Given the description of an element on the screen output the (x, y) to click on. 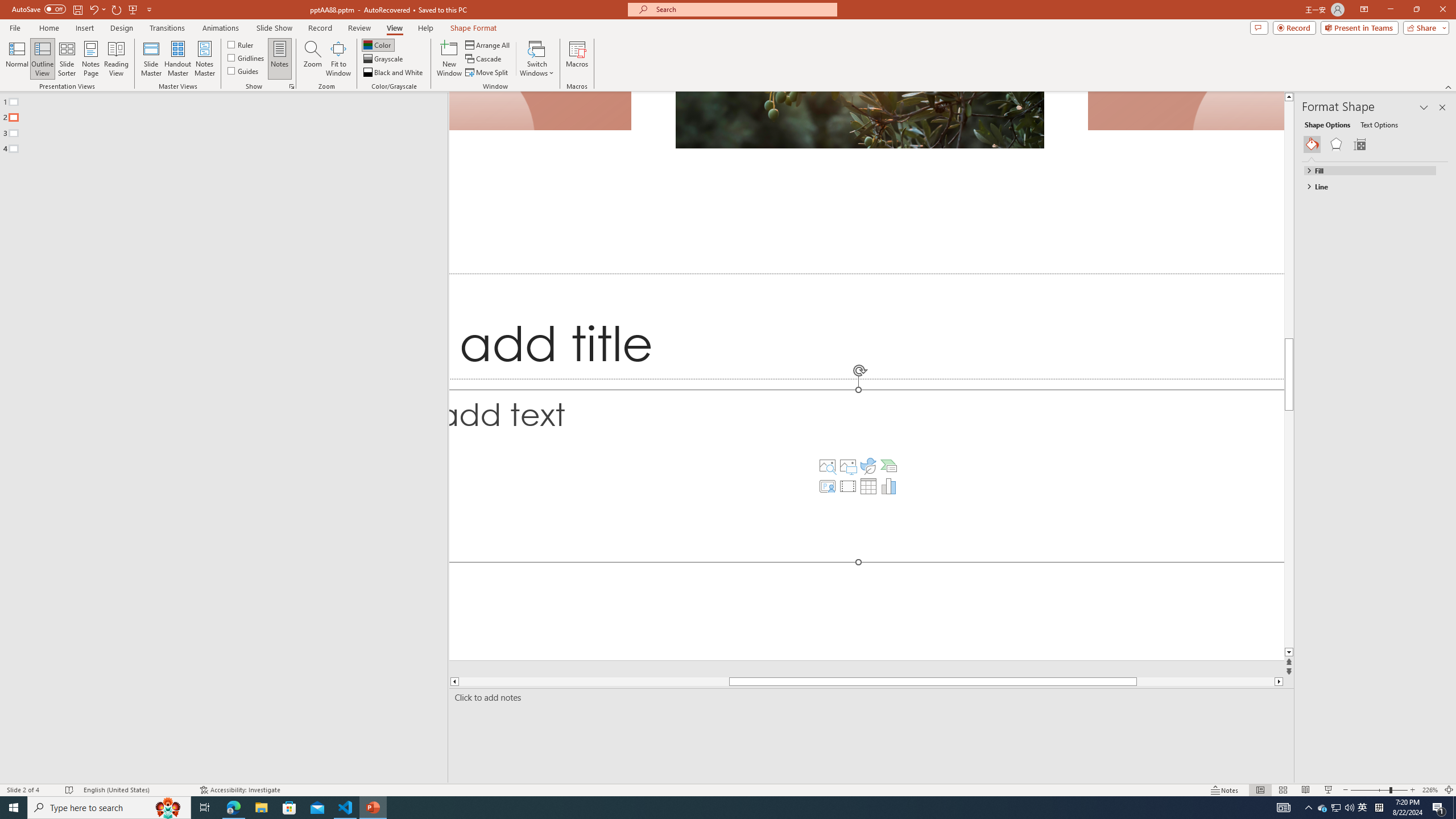
Black and White (393, 72)
New Window (449, 58)
Color (377, 44)
Macros (576, 58)
Class: NetUIScrollBar (1443, 468)
Zoom... (312, 58)
Insert a SmartArt Graphic (888, 466)
Camera 7, No camera detected. (1185, 111)
Effects (1335, 144)
Guides (243, 69)
